Given the description of an element on the screen output the (x, y) to click on. 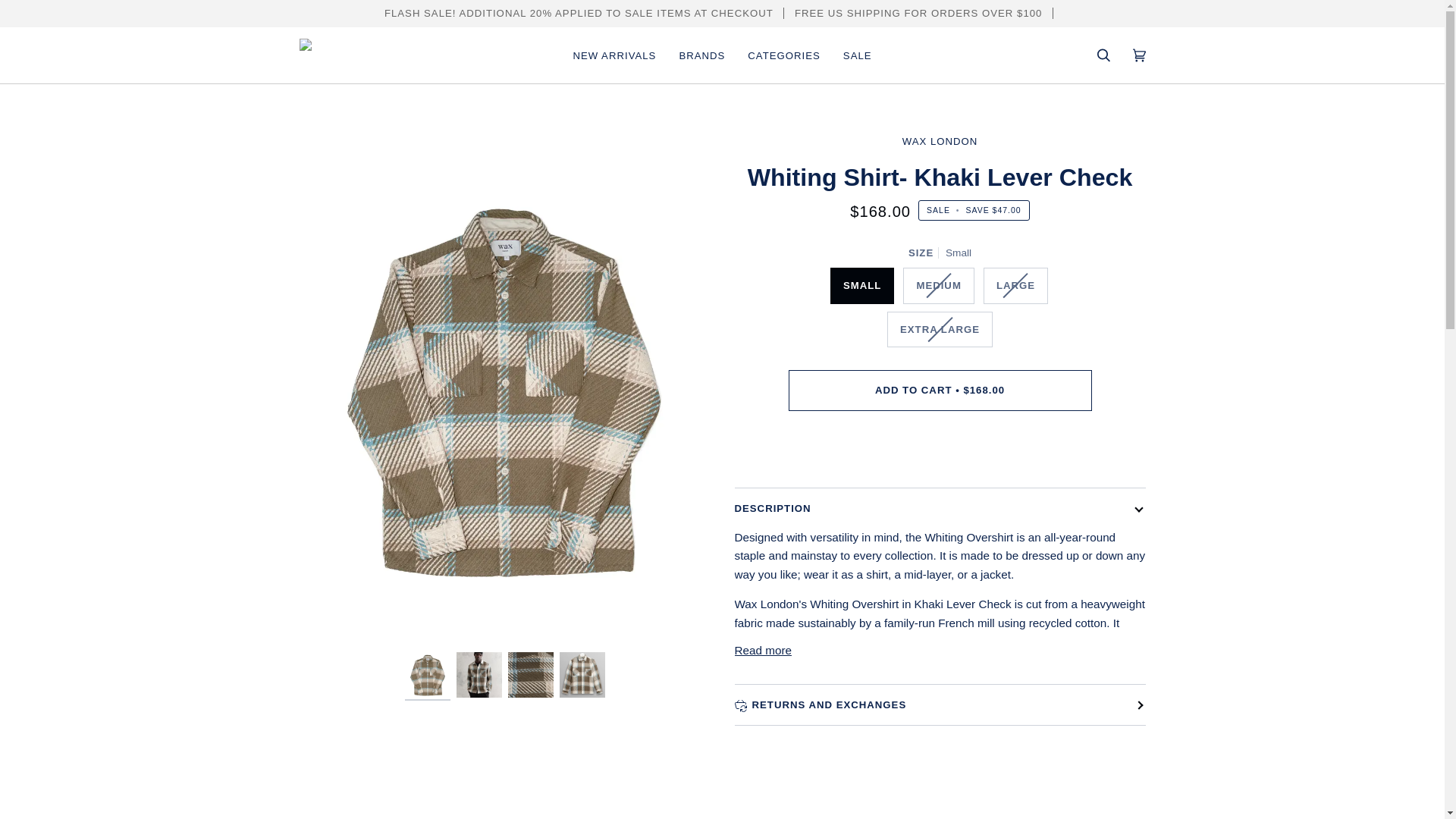
Search (1315, 58)
Eames NW (721, 59)
Instagram (69, 15)
Cart (1377, 58)
Tom Hammick Tee- Cabin Print (1215, 146)
Calypso II Tee- Brown (1266, 146)
Categories (223, 59)
New Arrivals (74, 59)
Eames NW on Facebook (50, 15)
Eames NW on Instagram (69, 15)
Facebook (50, 15)
Brands (151, 59)
Pinterest (88, 15)
Eames NW on Pinterest (88, 15)
Sale (290, 59)
